Given the description of an element on the screen output the (x, y) to click on. 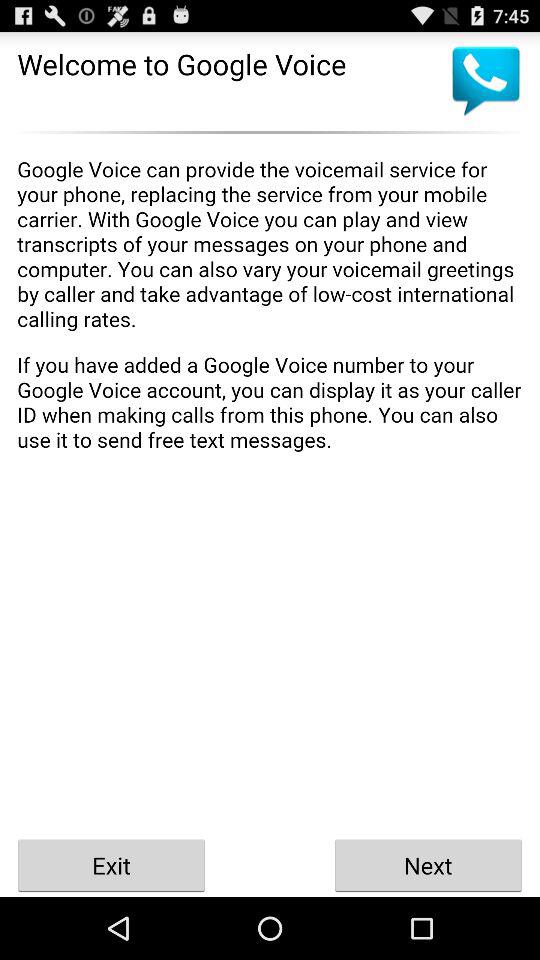
tap the icon to the left of the next icon (111, 864)
